Given the description of an element on the screen output the (x, y) to click on. 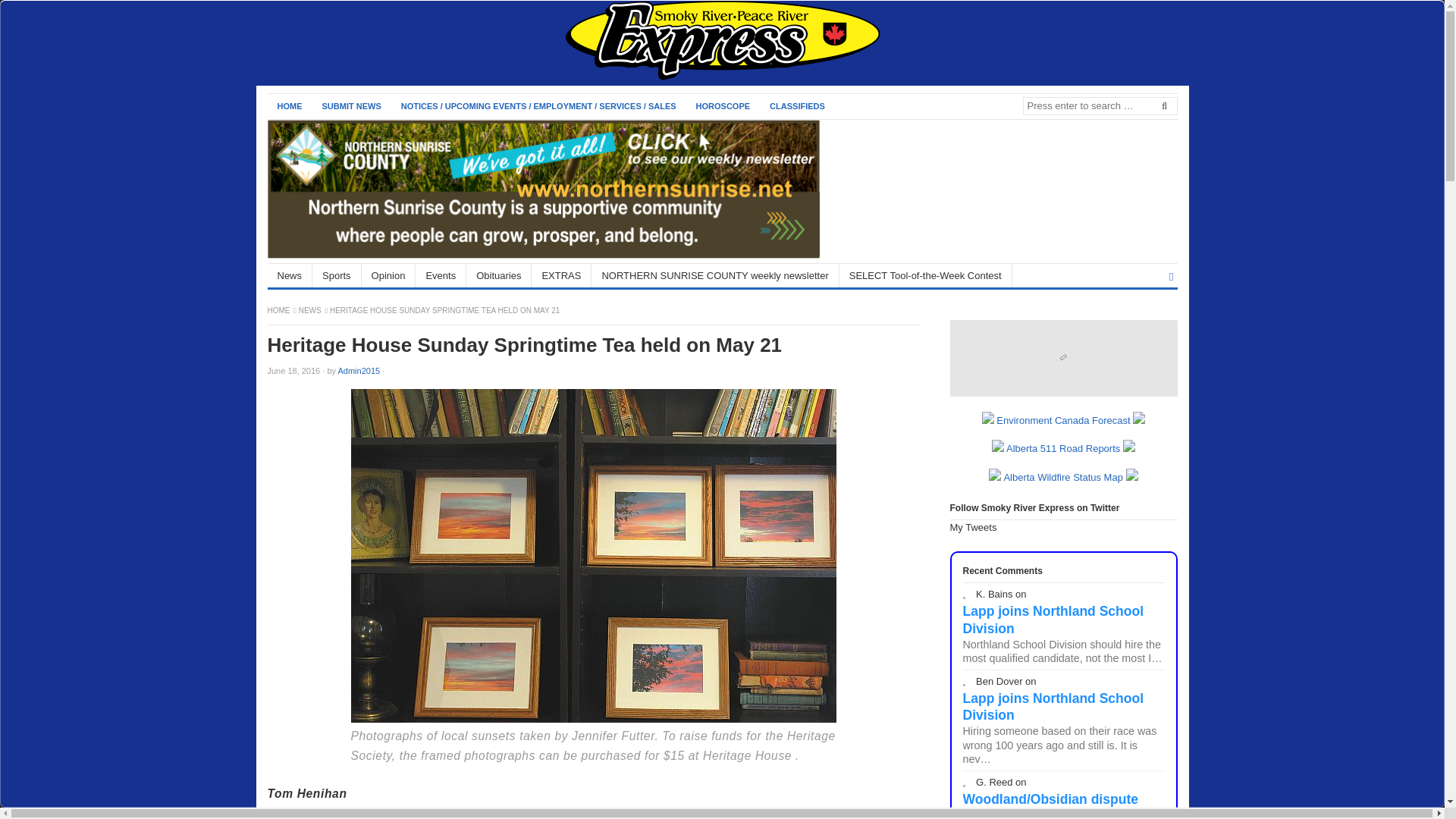
News (289, 275)
CLASSIFIEDS (797, 106)
Obituaries (498, 275)
Environment Canada Forecast (1063, 419)
HOROSCOPE (722, 106)
Search for: (1099, 106)
Smoky River Peace River Express (278, 310)
HOME (278, 310)
Events (439, 275)
HOME (288, 106)
